Given the description of an element on the screen output the (x, y) to click on. 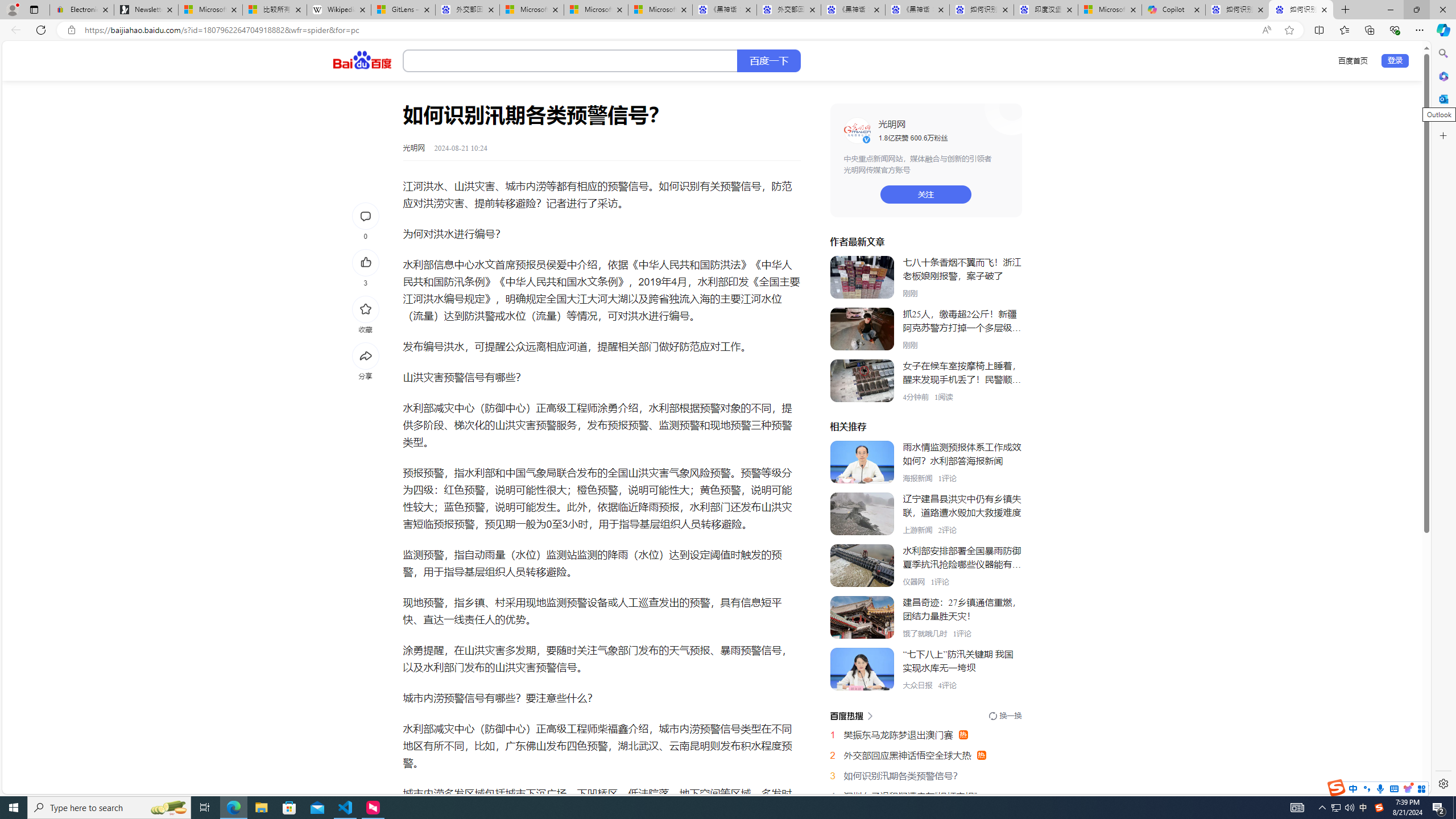
Electronics, Cars, Fashion, Collectibles & More | eBay (82, 9)
